Given the description of an element on the screen output the (x, y) to click on. 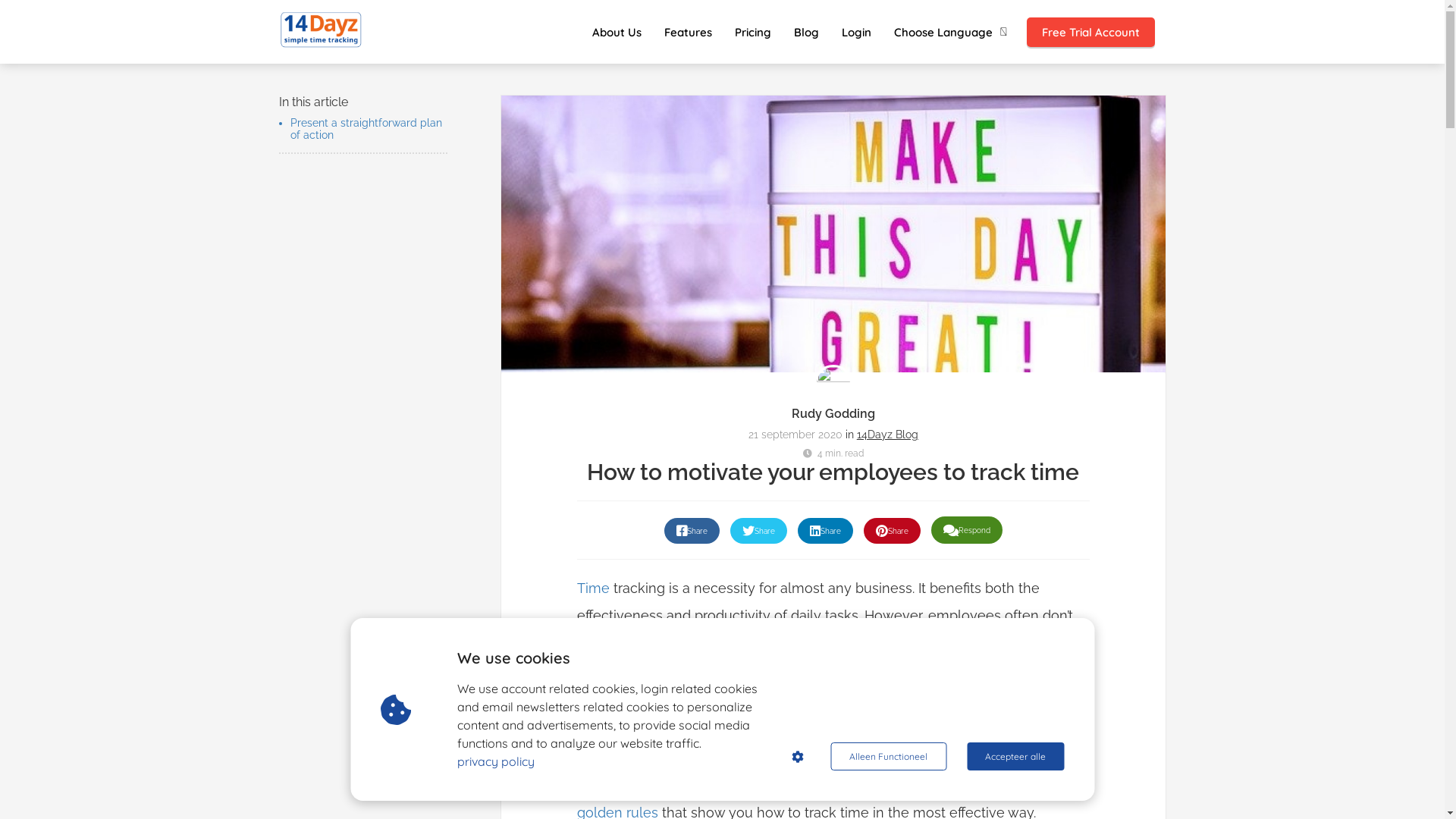
time Element type: text (616, 642)
Rudy Godding Element type: text (833, 413)
About Us Element type: text (616, 31)
Respond Element type: text (966, 529)
Blog Element type: text (806, 31)
Features Element type: text (687, 31)
privacy policy Element type: text (495, 761)
Present a straightforward plan of action Element type: text (365, 128)
Pricing Element type: text (752, 31)
Share Element type: text (825, 530)
Share Element type: text (758, 530)
Time Element type: text (593, 588)
Free Trial Account Element type: text (1089, 31)
Share Element type: text (691, 530)
Share Element type: text (891, 530)
Time tracking as simple as ABC Element type: hover (321, 30)
14Dayz Blog Element type: text (887, 434)
Login Element type: text (855, 31)
